Given the description of an element on the screen output the (x, y) to click on. 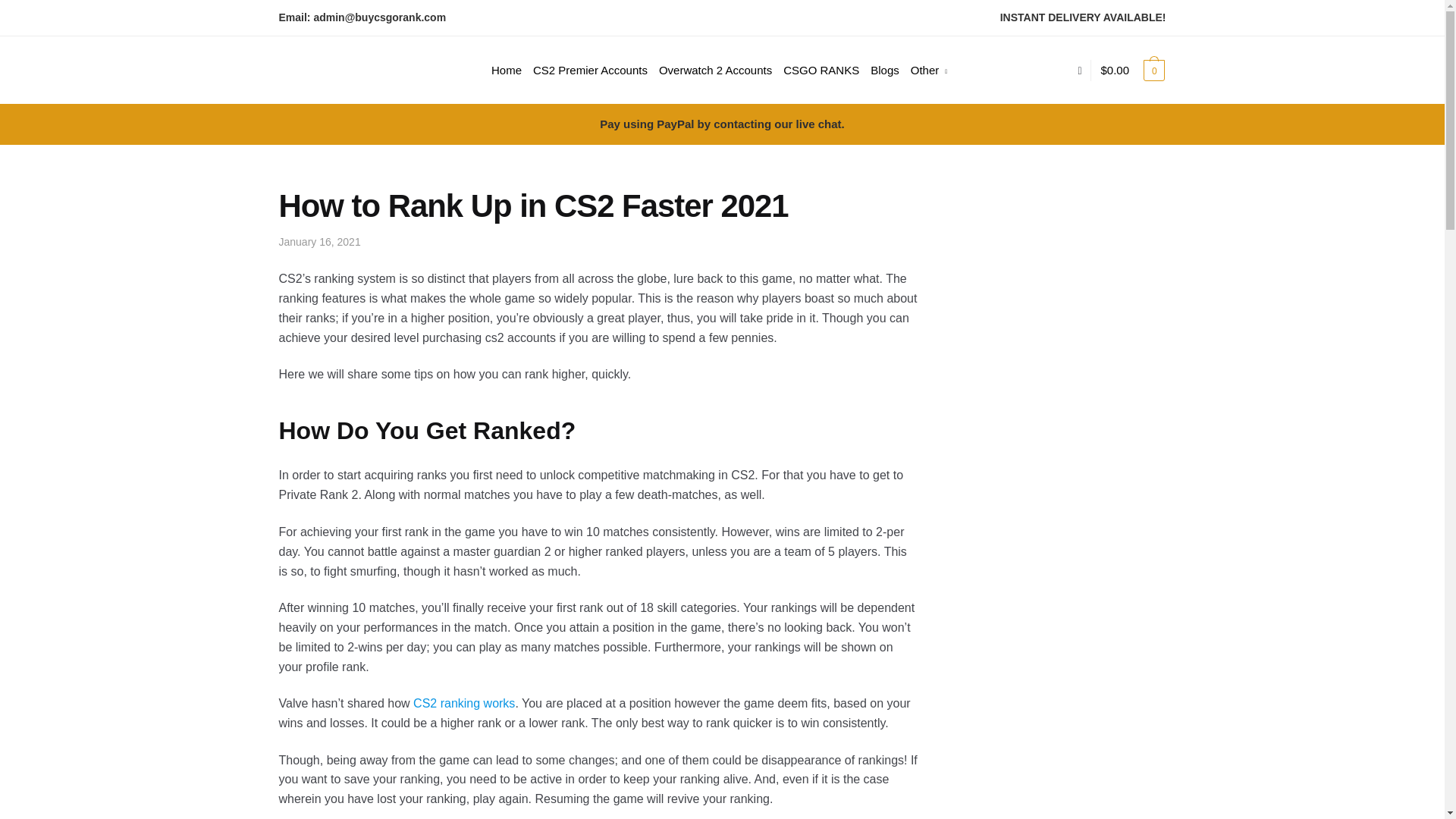
View your shopping cart (1133, 70)
CSGO RANKS (821, 70)
CS2 Premier Accounts (589, 70)
Overwatch 2 Accounts (715, 70)
INSTANT DELIVERY AVAILABLE! (1083, 17)
Search (470, 45)
